Given the description of an element on the screen output the (x, y) to click on. 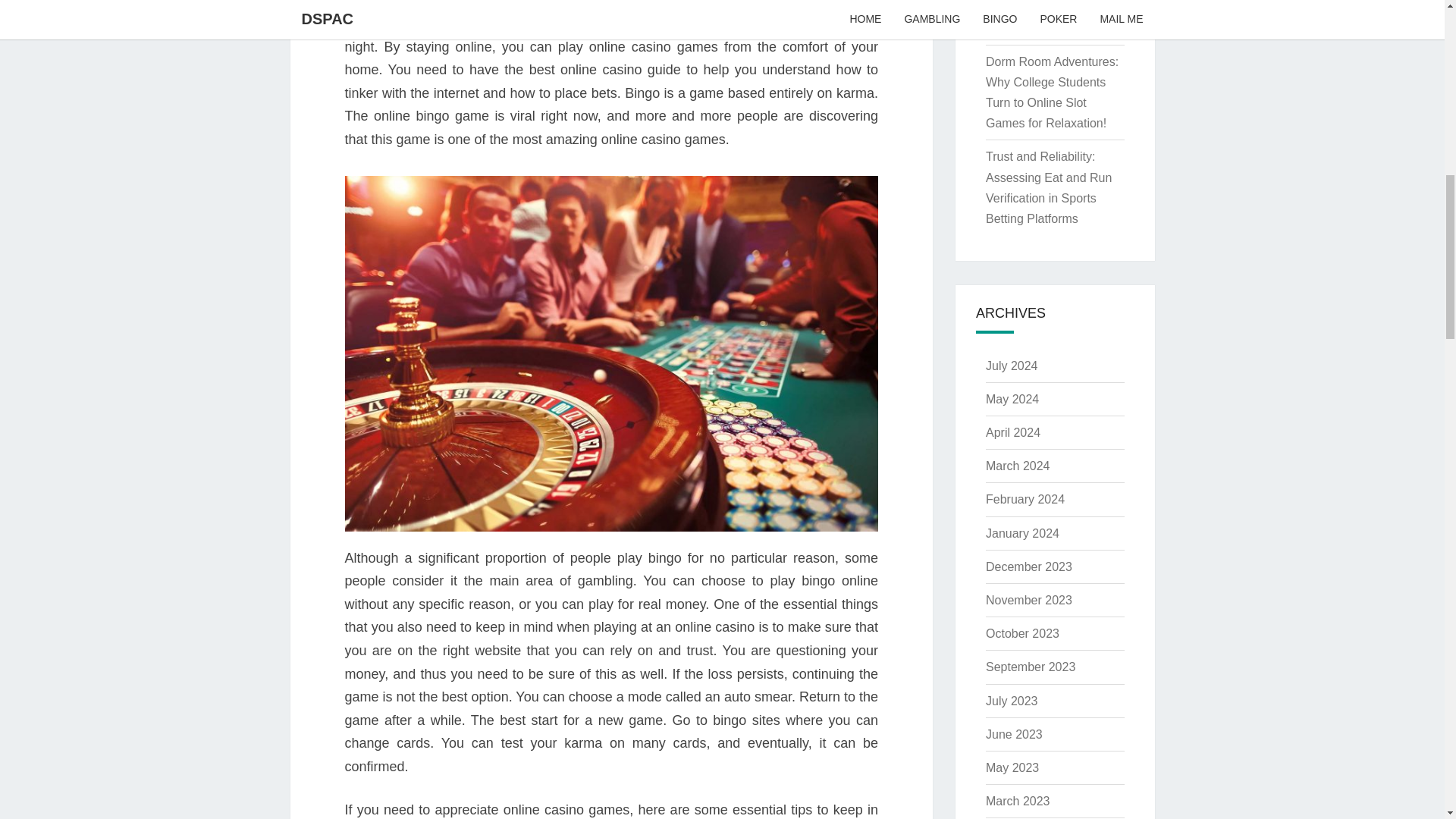
July 2023 (1011, 700)
May 2023 (1012, 767)
October 2023 (1022, 633)
April 2024 (1013, 431)
March 2023 (1017, 800)
January 2024 (1022, 533)
December 2023 (1028, 566)
September 2023 (1030, 666)
May 2024 (1012, 399)
February 2024 (1024, 499)
